Given the description of an element on the screen output the (x, y) to click on. 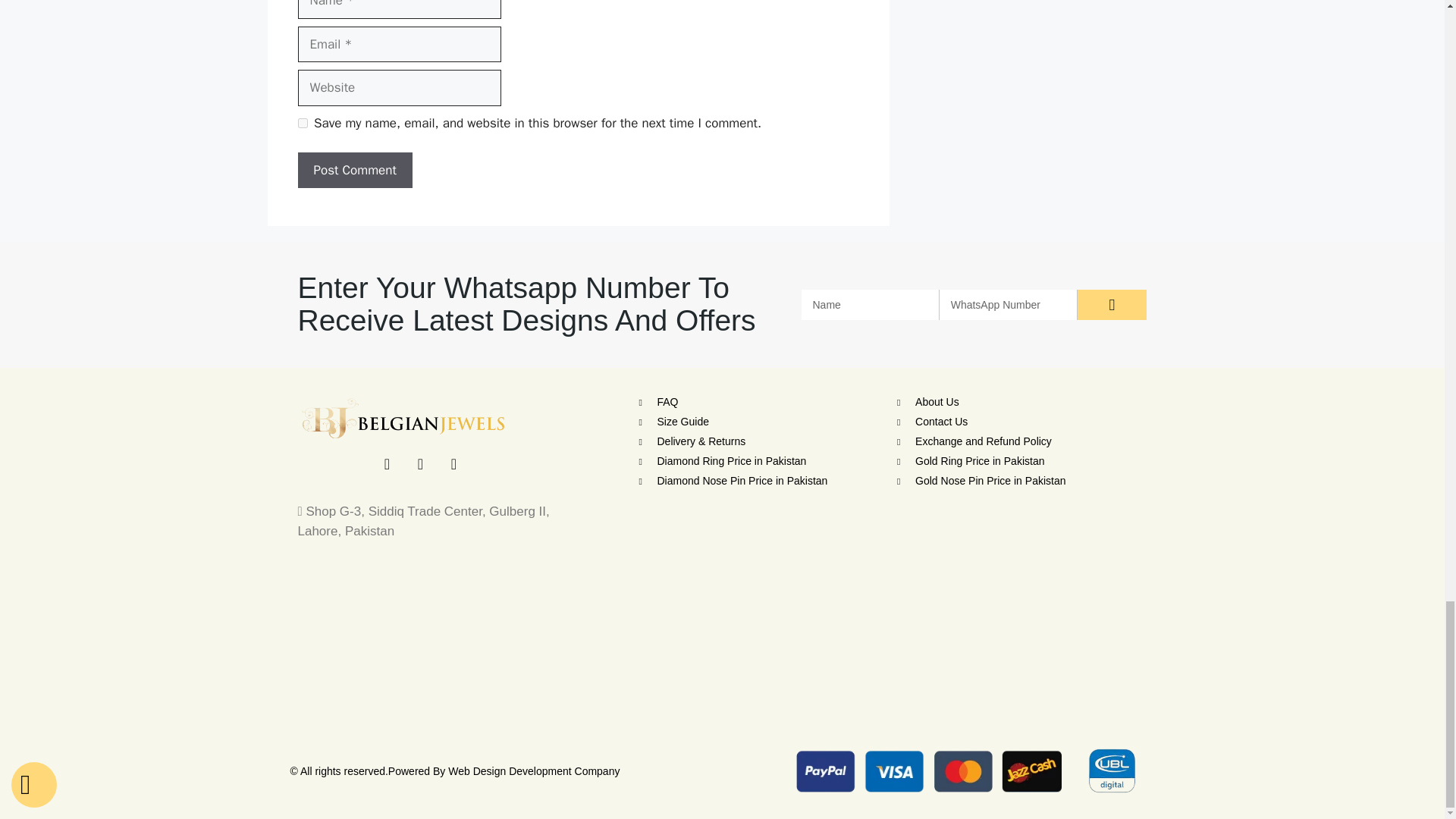
Post Comment (354, 170)
Shop G-3, Siddiq Trade Center, Gulberg II, Lahore, Pakistan (722, 654)
yes (302, 122)
